Given the description of an element on the screen output the (x, y) to click on. 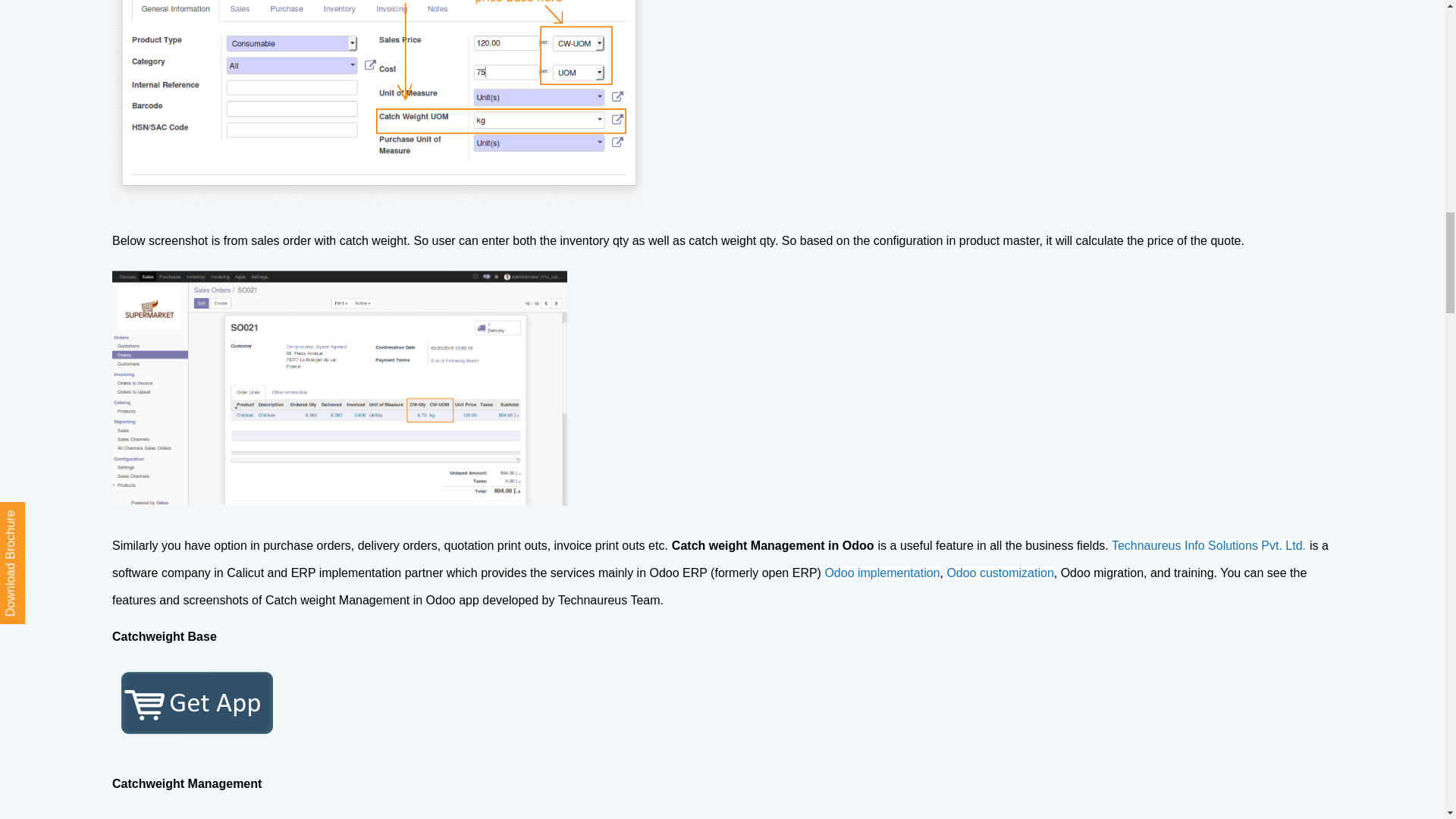
Odoo implementation (881, 572)
Technaureus Info Solutions Pvt. Ltd. (1209, 544)
Odoo customization (999, 572)
